Given the description of an element on the screen output the (x, y) to click on. 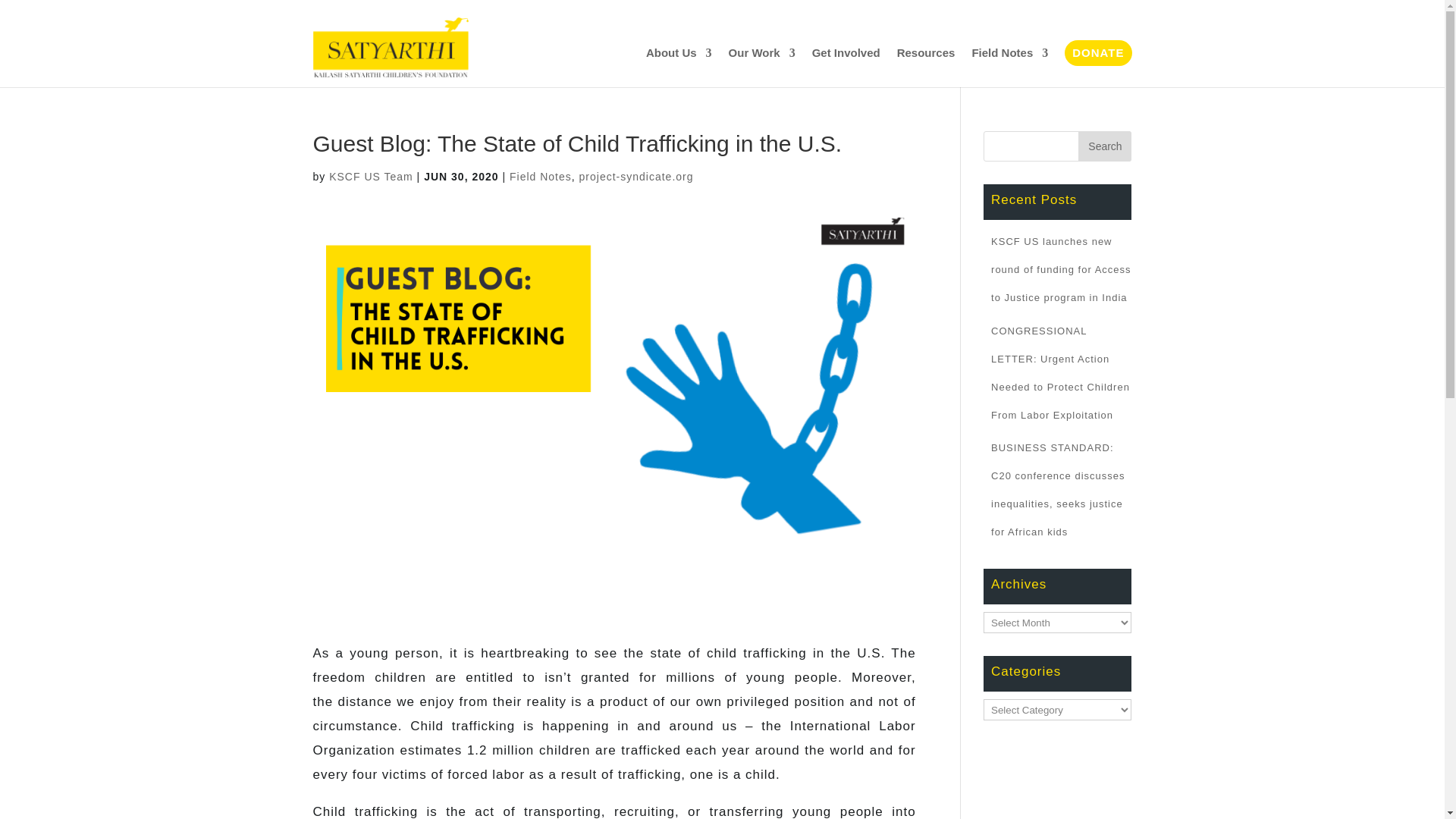
Search (1104, 146)
Field Notes (540, 176)
KSCF US Team (371, 176)
Resources (925, 52)
Field Notes (1009, 52)
Get Involved (846, 52)
Our Work (761, 52)
Search (1104, 146)
About Us (678, 52)
